Given the description of an element on the screen output the (x, y) to click on. 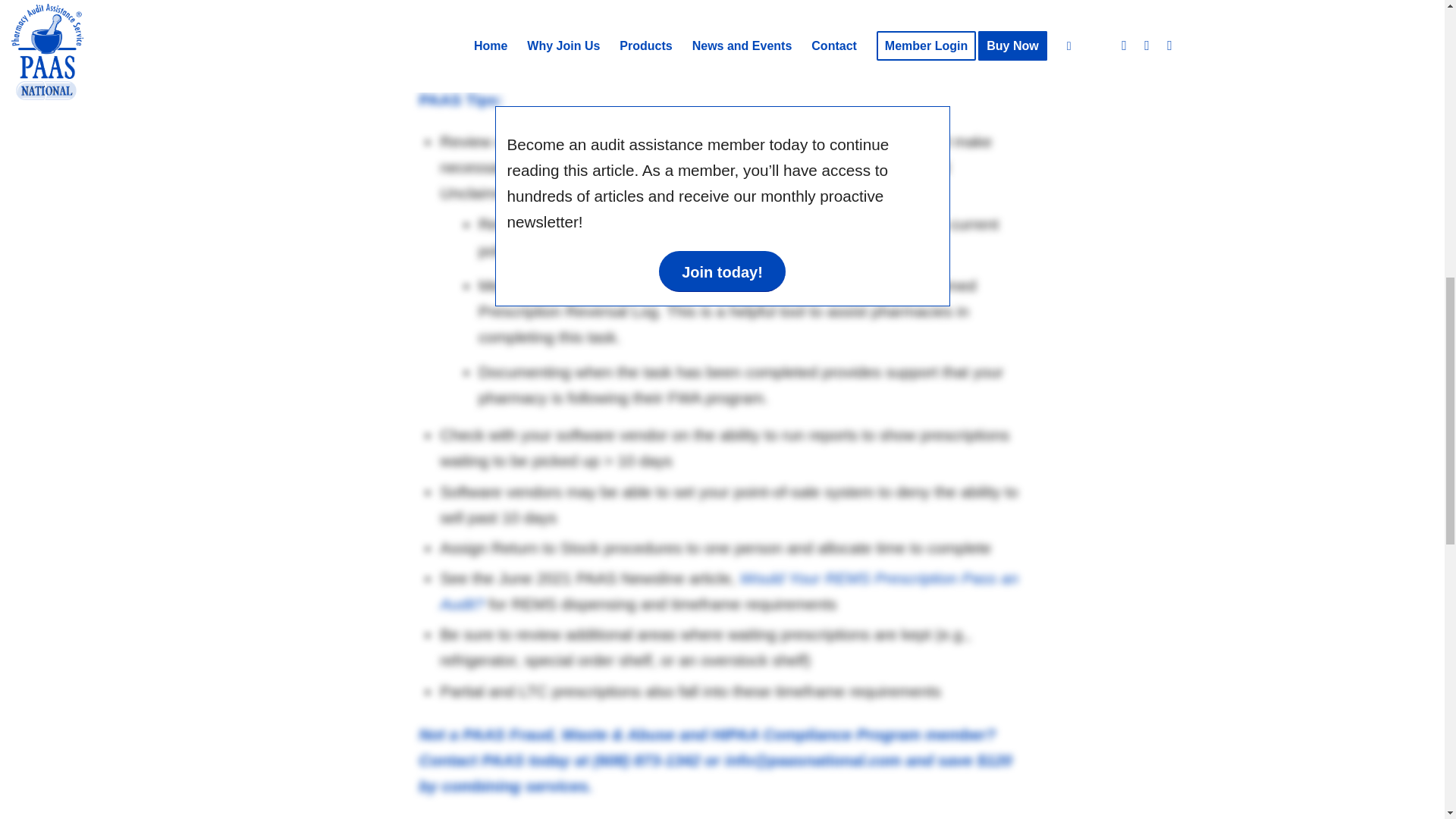
Contact PAAS (471, 760)
Join today! (722, 270)
Would Your REMS Prescription Pass an Audit? (728, 590)
